Given the description of an element on the screen output the (x, y) to click on. 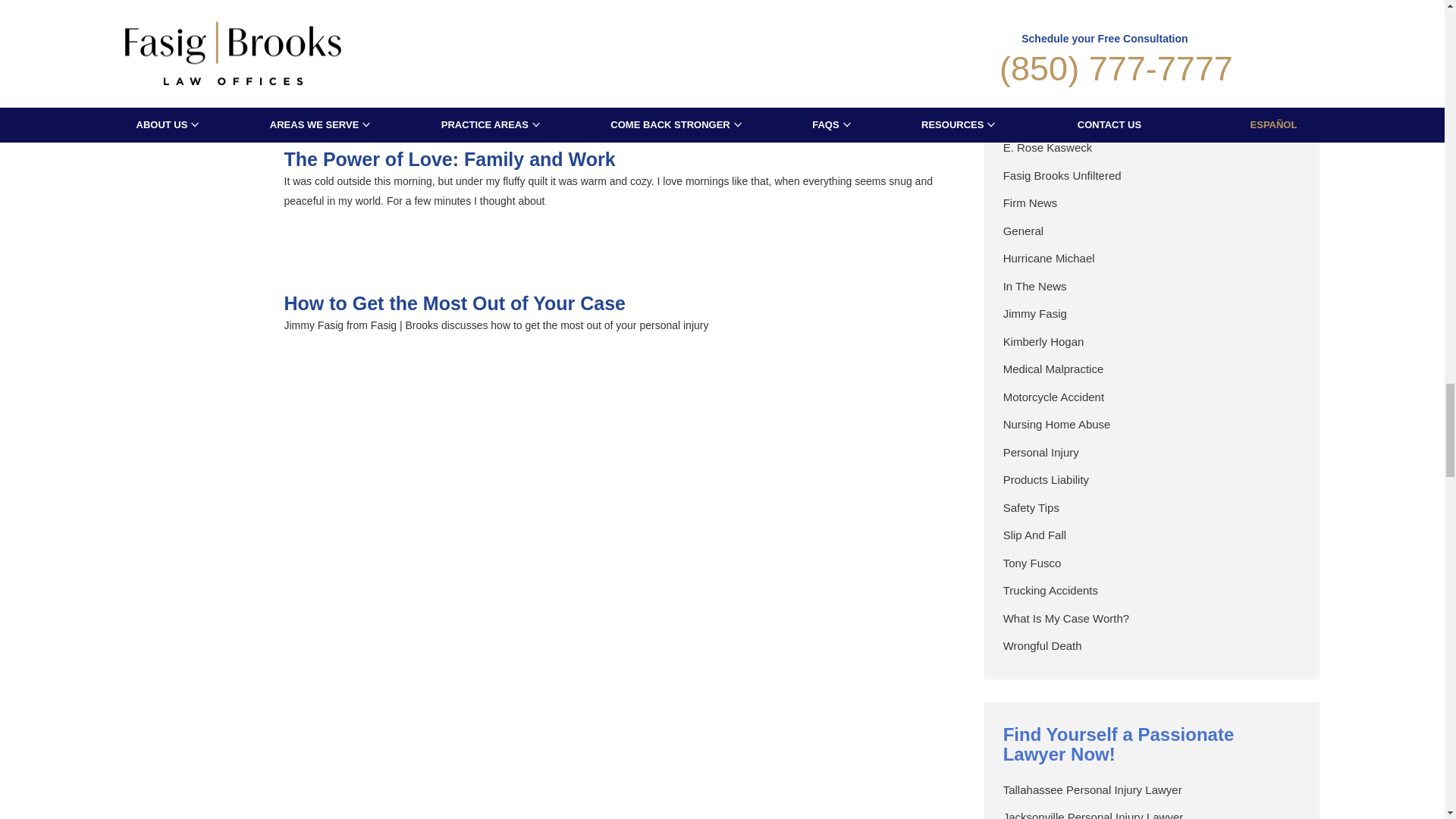
The Power of Love: Family and Work (195, 204)
How to Get the Most Out of Your Case (195, 347)
The Power of Love: the Key to Business Success (195, 60)
